Given the description of an element on the screen output the (x, y) to click on. 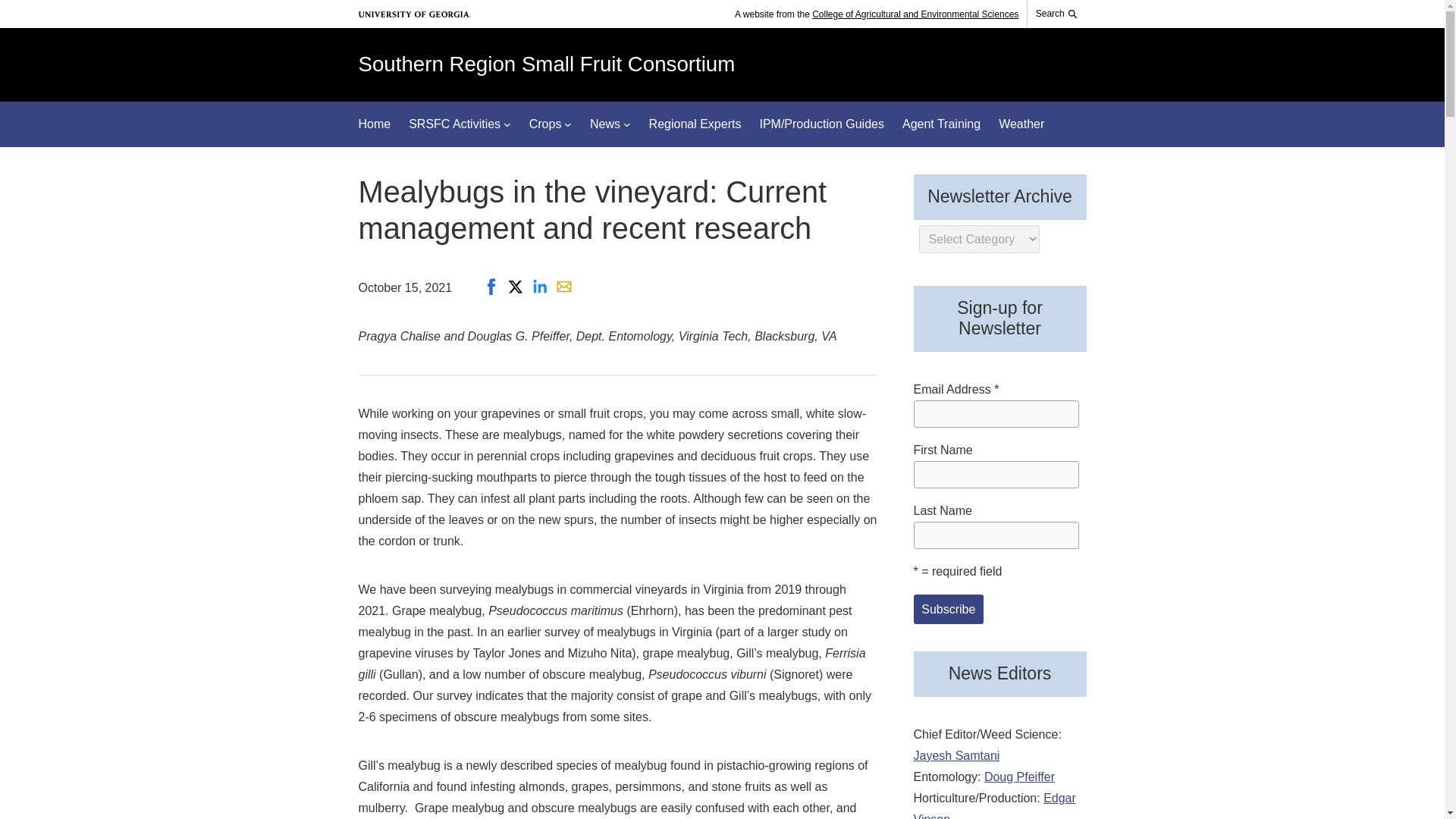
Agent Training (940, 124)
Southern Region Small Fruit Consortium (546, 64)
Subscribe (948, 609)
Share on Facebook, opens in new window (491, 286)
SRSFC Activities (454, 124)
Home (374, 124)
Regional Experts (695, 124)
Share with email, opens in email application (563, 286)
University of Georgia (414, 14)
News (604, 124)
